Given the description of an element on the screen output the (x, y) to click on. 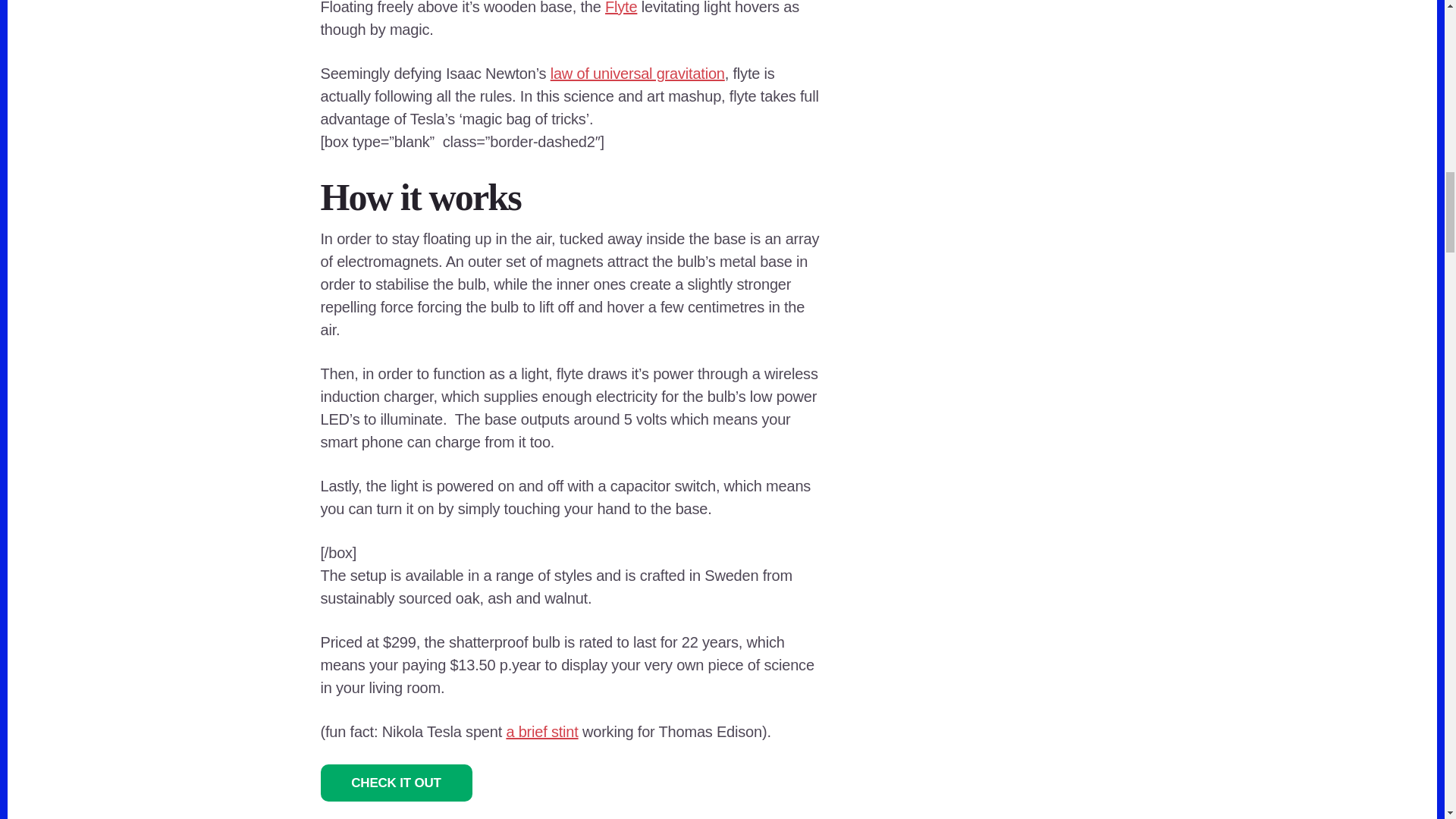
law of universal gravitation (637, 73)
a brief stint (541, 731)
CHECK IT OUT (395, 782)
Flyte (621, 7)
